Given the description of an element on the screen output the (x, y) to click on. 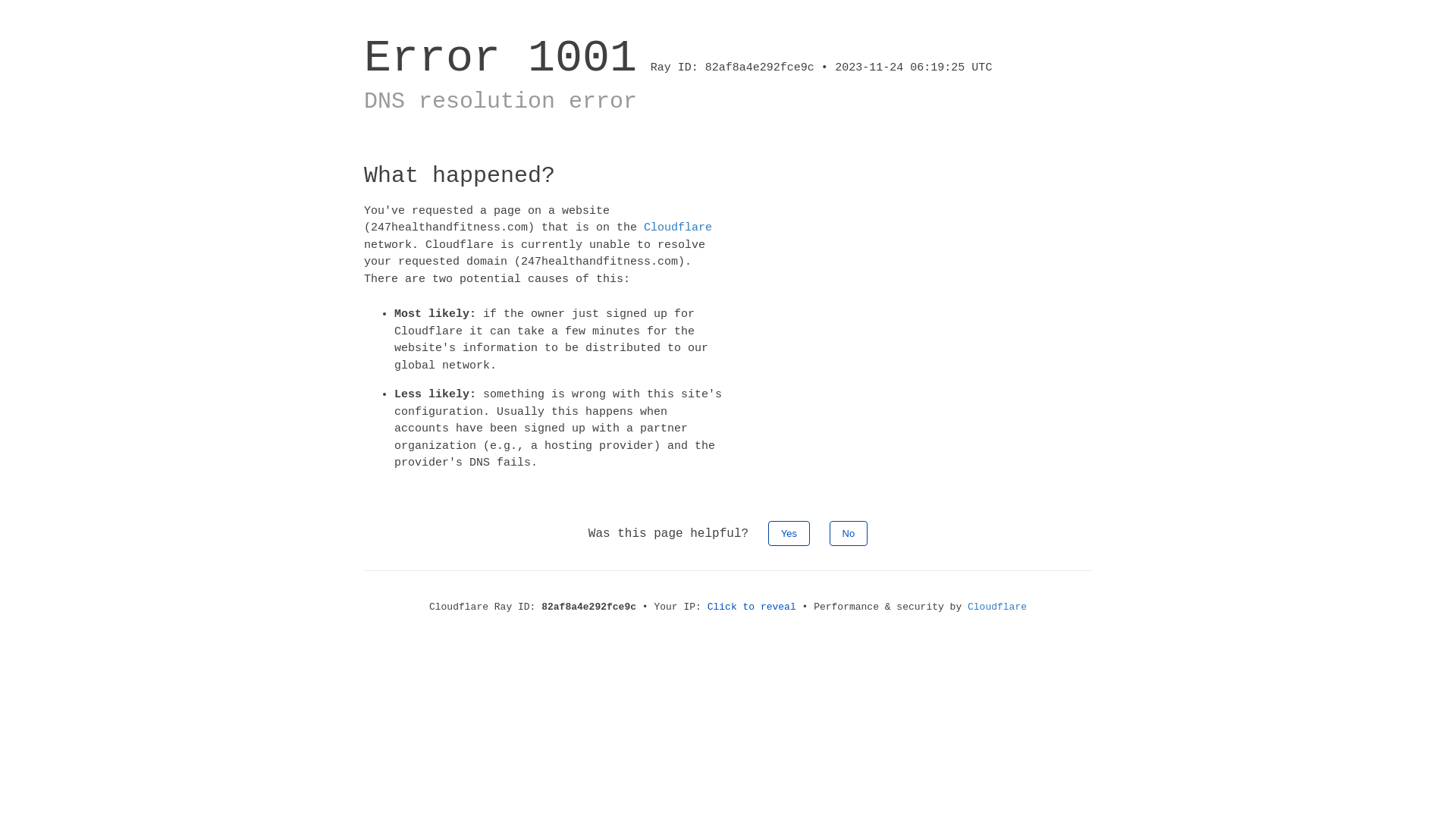
Click to reveal Element type: text (751, 605)
No Element type: text (848, 532)
Cloudflare Element type: text (677, 227)
Yes Element type: text (788, 532)
Cloudflare Element type: text (996, 605)
